Given the description of an element on the screen output the (x, y) to click on. 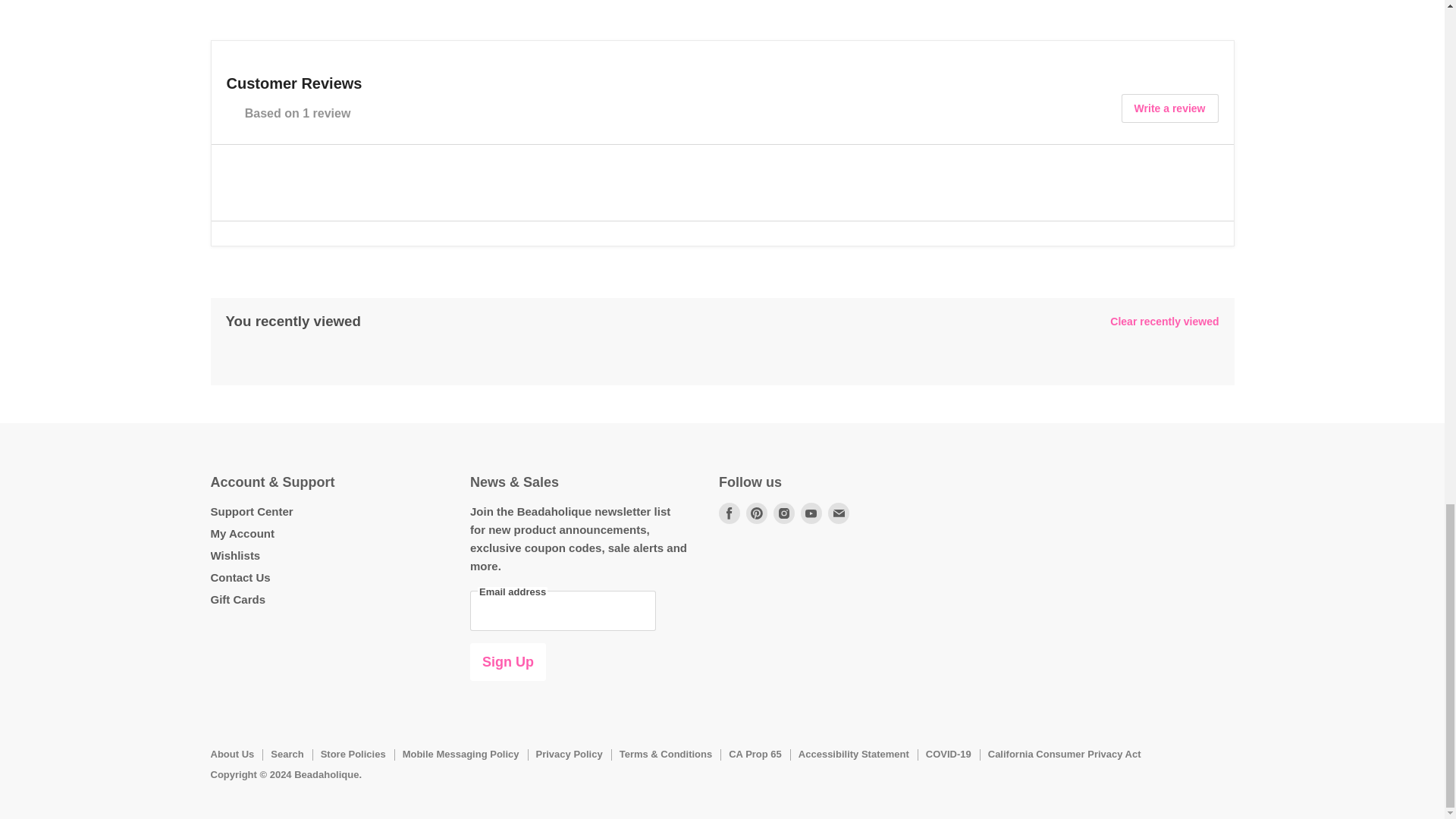
Facebook (729, 513)
Pinterest (756, 513)
E-mail (838, 513)
Youtube (811, 513)
Instagram (783, 513)
